Given the description of an element on the screen output the (x, y) to click on. 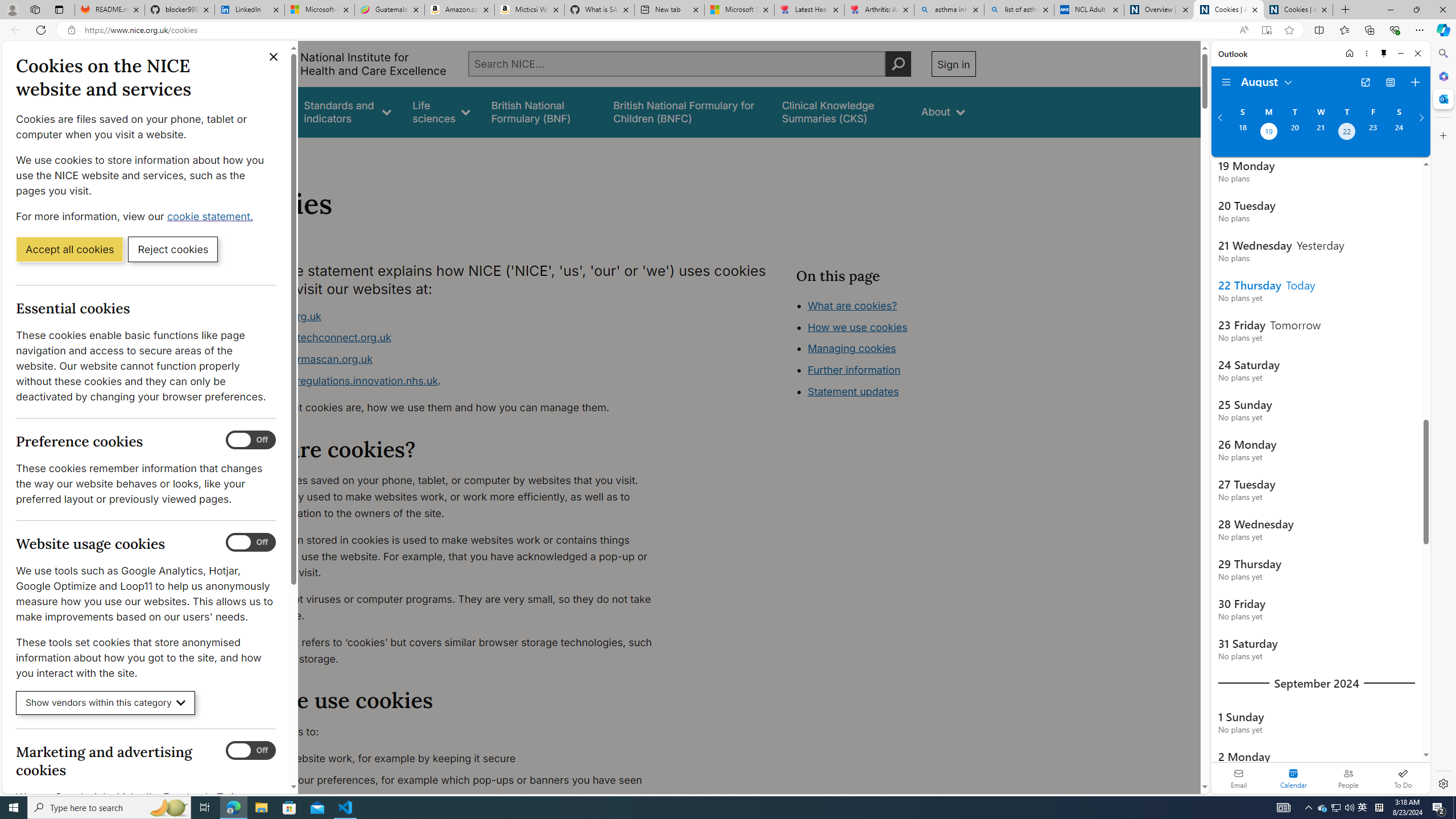
View Switcher. Current view is Agenda view (1390, 82)
Close Customize pane (1442, 135)
Cookies | About | NICE (1297, 9)
www.digitalregulations.innovation.nhs.uk (338, 380)
Sign in (952, 63)
Open in new tab (1365, 82)
Home> (246, 152)
Preference cookies (250, 439)
Accept all cookies (69, 248)
About (283, 152)
www.healthtechconnect.org.uk (314, 337)
make our website work, for example by keeping it secure (452, 759)
